Given the description of an element on the screen output the (x, y) to click on. 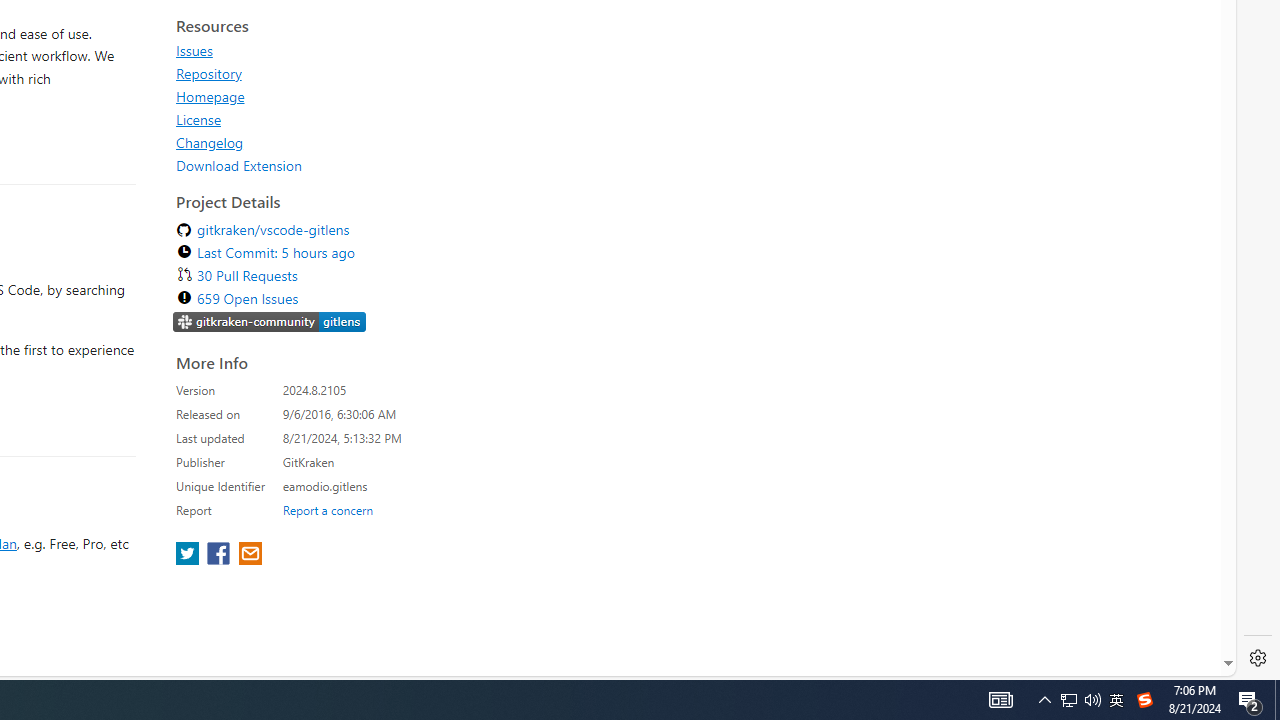
share extension on facebook (220, 555)
Homepage (210, 96)
Report a concern (327, 509)
share extension on email (249, 555)
share extension on twitter (190, 555)
License (358, 119)
Download Extension (239, 165)
Changelog (358, 142)
Download Extension (358, 165)
